Given the description of an element on the screen output the (x, y) to click on. 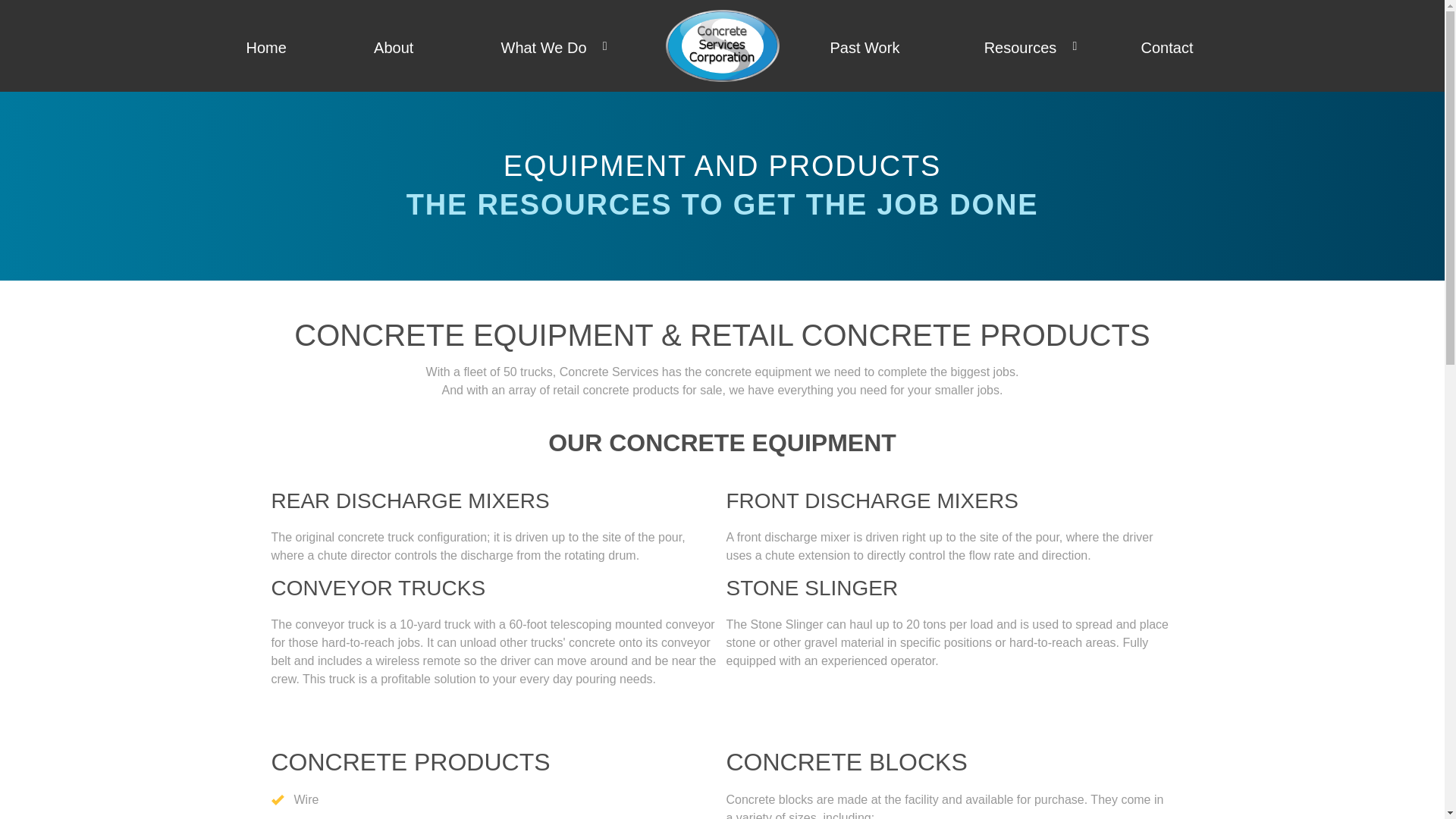
Resources (1023, 45)
Past Work (866, 45)
About (396, 45)
What We Do (545, 45)
Home (268, 45)
Contact (1169, 45)
